Given the description of an element on the screen output the (x, y) to click on. 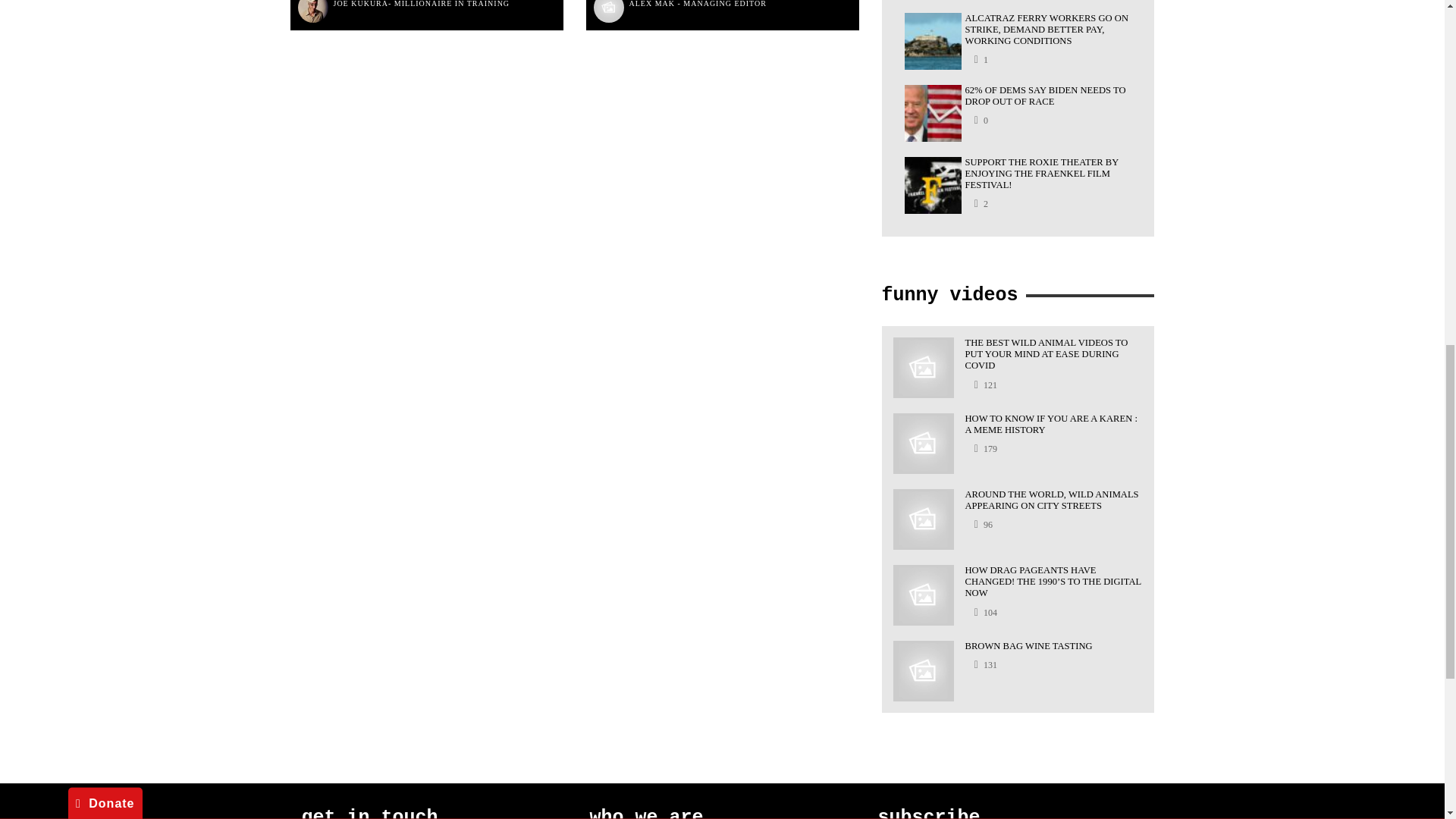
I like this (979, 58)
View all posts by Joe Kukura- Millionaire in Training (422, 6)
View all posts by Alex Mak - Managing Editor (697, 6)
I like this (979, 203)
I like this (979, 119)
